Given the description of an element on the screen output the (x, y) to click on. 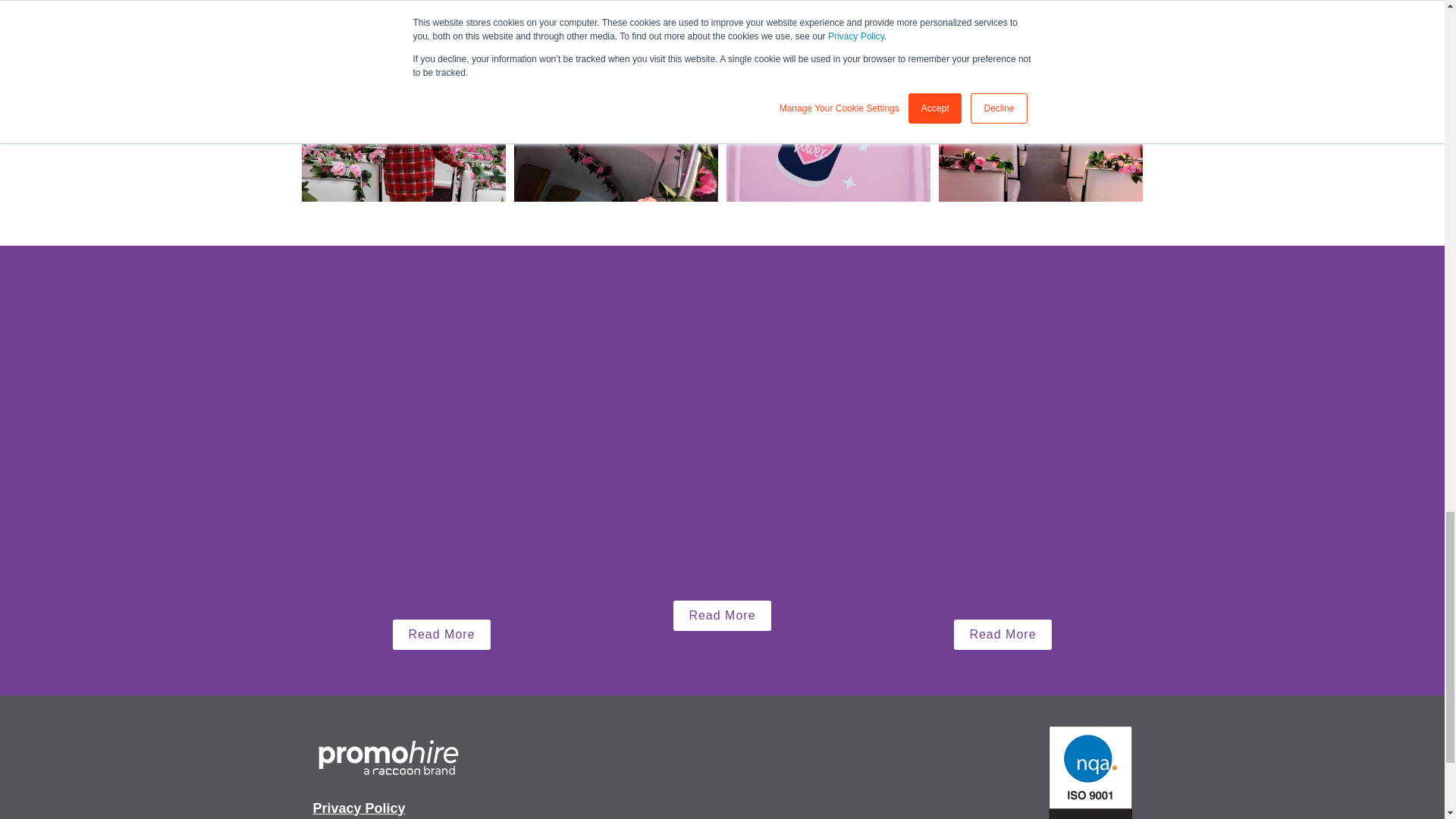
Read More (1002, 634)
Read More (721, 615)
Read More (441, 634)
